Given the description of an element on the screen output the (x, y) to click on. 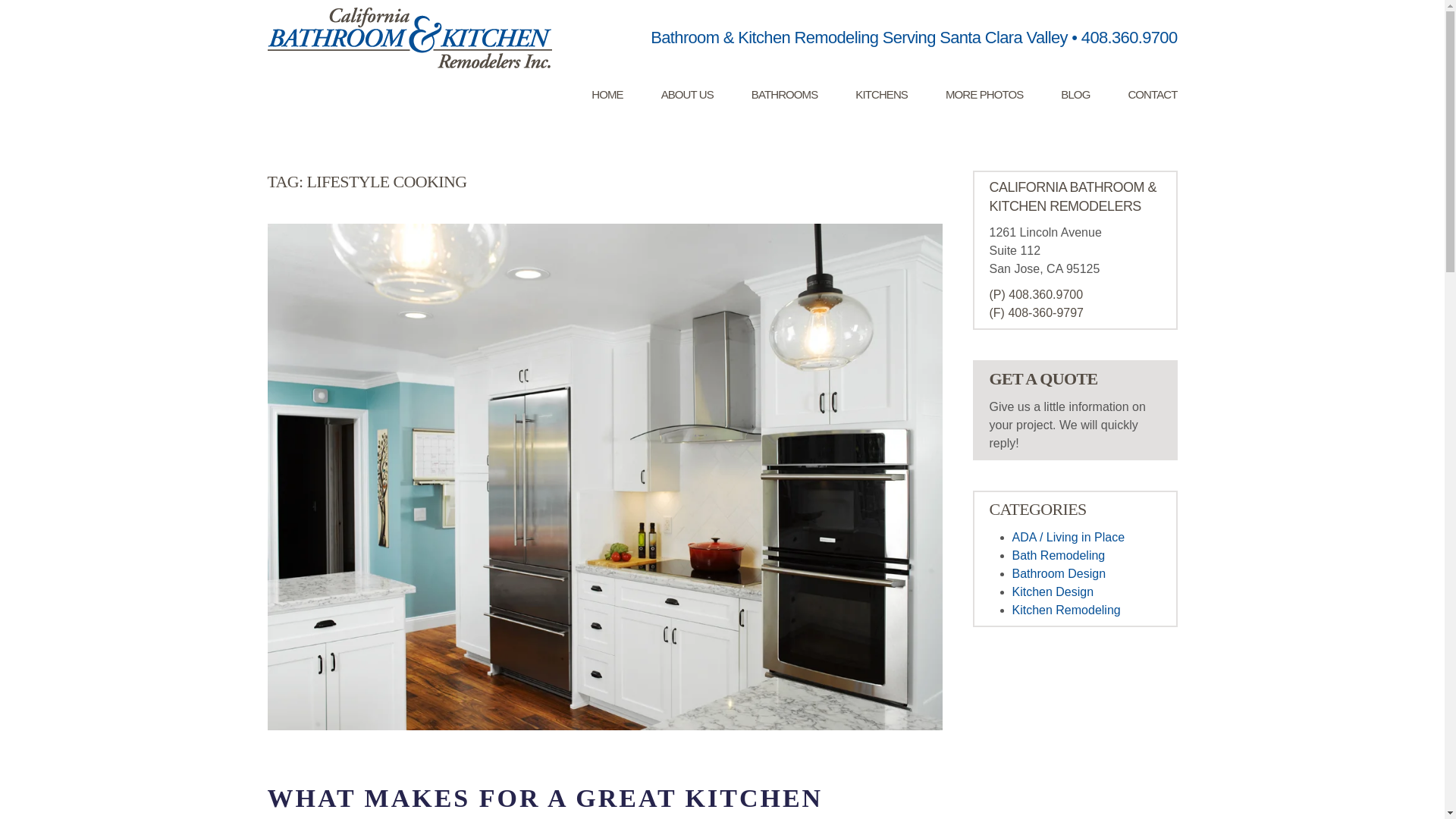
MORE PHOTOS (983, 94)
BATHROOMS (783, 94)
GET A QUOTE (1042, 378)
408.360.9700 (1129, 36)
Bathroom Design (1058, 573)
Kitchen Design (1052, 591)
WHAT MAKES FOR A GREAT KITCHEN DESIGNER? (544, 801)
ABOUT US (687, 94)
CONTACT (1151, 94)
Kitchen Remodeling (1065, 609)
Bath Remodeling (1058, 554)
KITCHENS (881, 94)
